Given the description of an element on the screen output the (x, y) to click on. 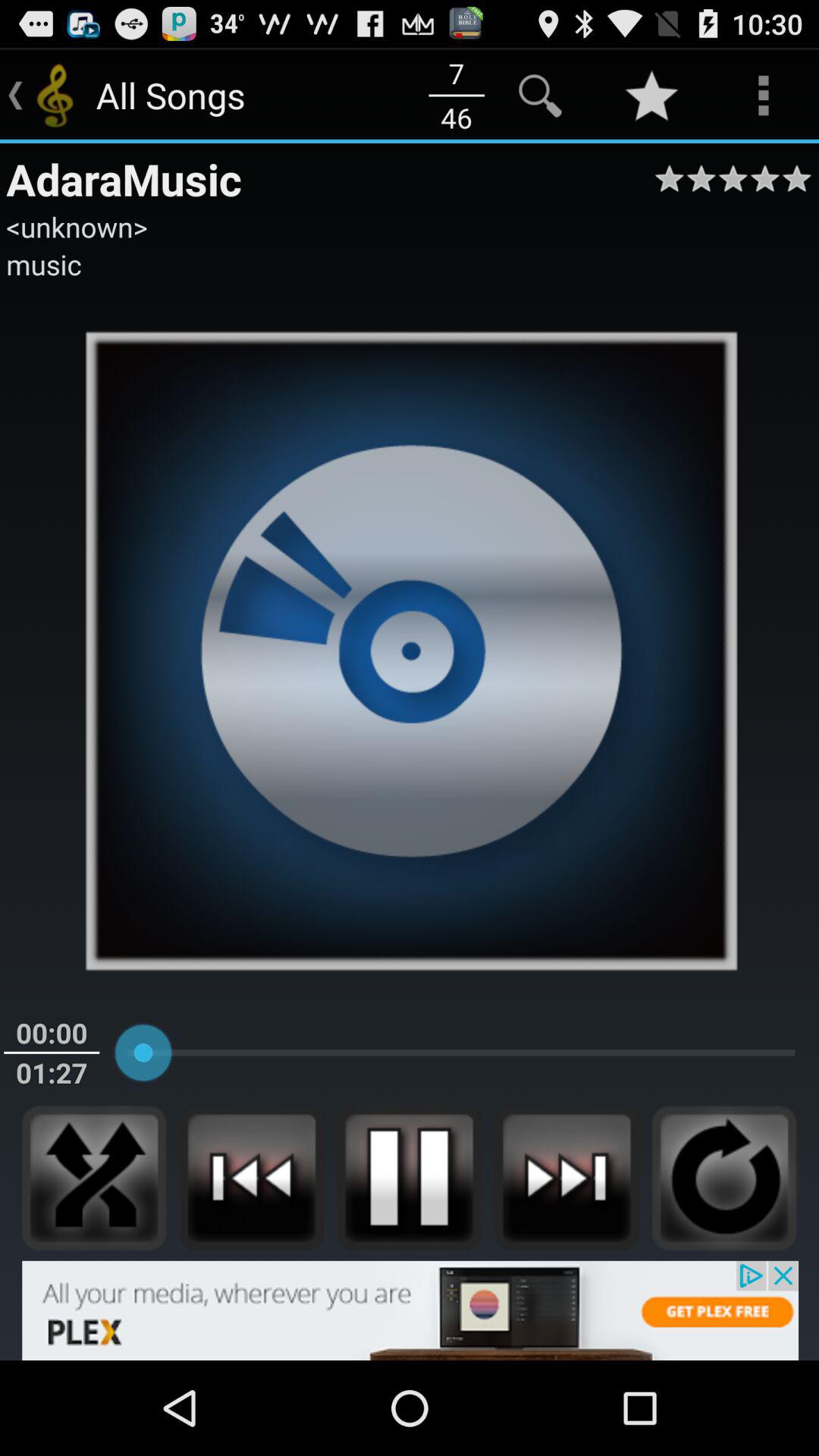
repeat track (724, 1177)
